Given the description of an element on the screen output the (x, y) to click on. 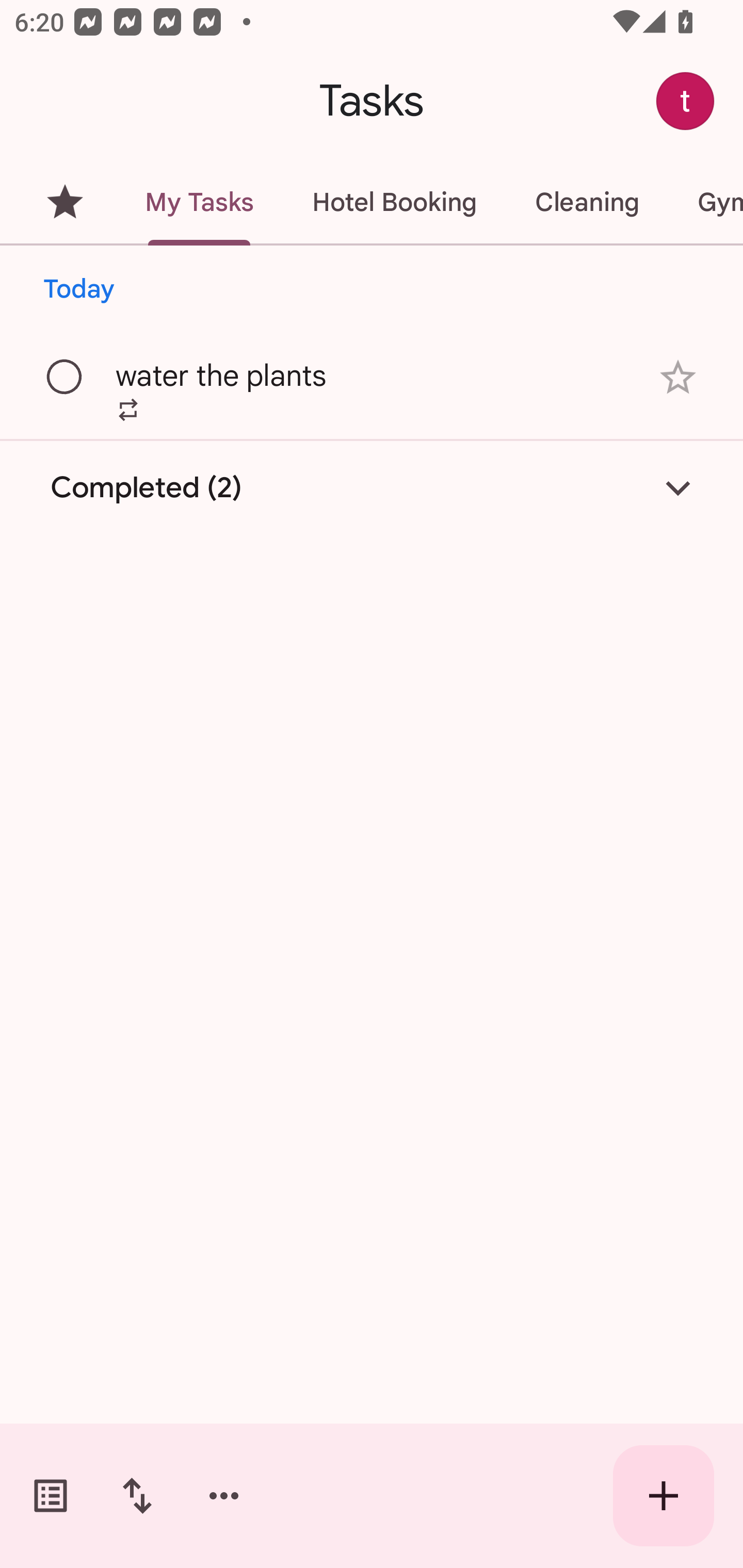
Starred (64, 202)
Hotel Booking (394, 202)
Cleaning (586, 202)
Add star (677, 376)
Mark as complete (64, 377)
Completed (2) (371, 487)
Switch task lists (50, 1495)
Create new task (663, 1495)
Change sort order (136, 1495)
More options (223, 1495)
